Given the description of an element on the screen output the (x, y) to click on. 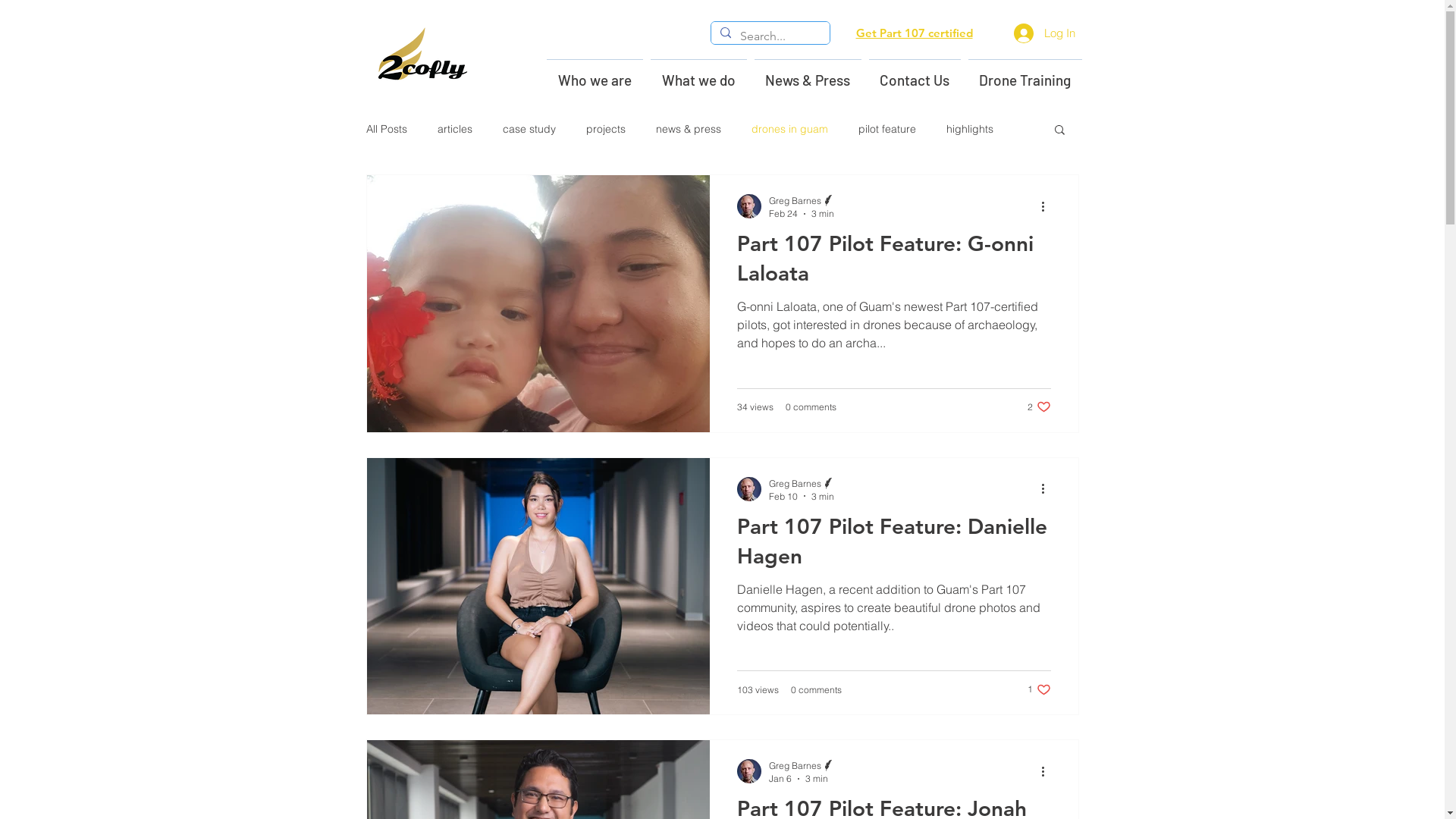
Part 107 Pilot Feature: Danielle Hagen Element type: text (894, 545)
highlights Element type: text (969, 128)
Contact Us Element type: text (913, 73)
articles Element type: text (453, 128)
Log In Element type: text (1043, 32)
News & Press Element type: text (807, 73)
1 like. Post not marked as liked
1 Element type: text (1038, 689)
projects Element type: text (604, 128)
drones in guam Element type: text (788, 128)
Greg Barnes Element type: text (801, 483)
2 likes. Post not marked as liked
2 Element type: text (1038, 406)
Greg Barnes Element type: text (801, 200)
case study Element type: text (528, 128)
Drone Training Element type: text (1024, 73)
All Posts Element type: text (385, 128)
Get Part 107 certified Element type: text (913, 32)
Who we are Element type: text (594, 73)
Part 107 Pilot Feature: G-onni Laloata Element type: text (894, 262)
0 comments Element type: text (815, 689)
Greg Barnes Element type: text (801, 765)
0 comments Element type: text (810, 406)
What we do Element type: text (697, 73)
pilot feature Element type: text (887, 128)
news & press Element type: text (687, 128)
